Given the description of an element on the screen output the (x, y) to click on. 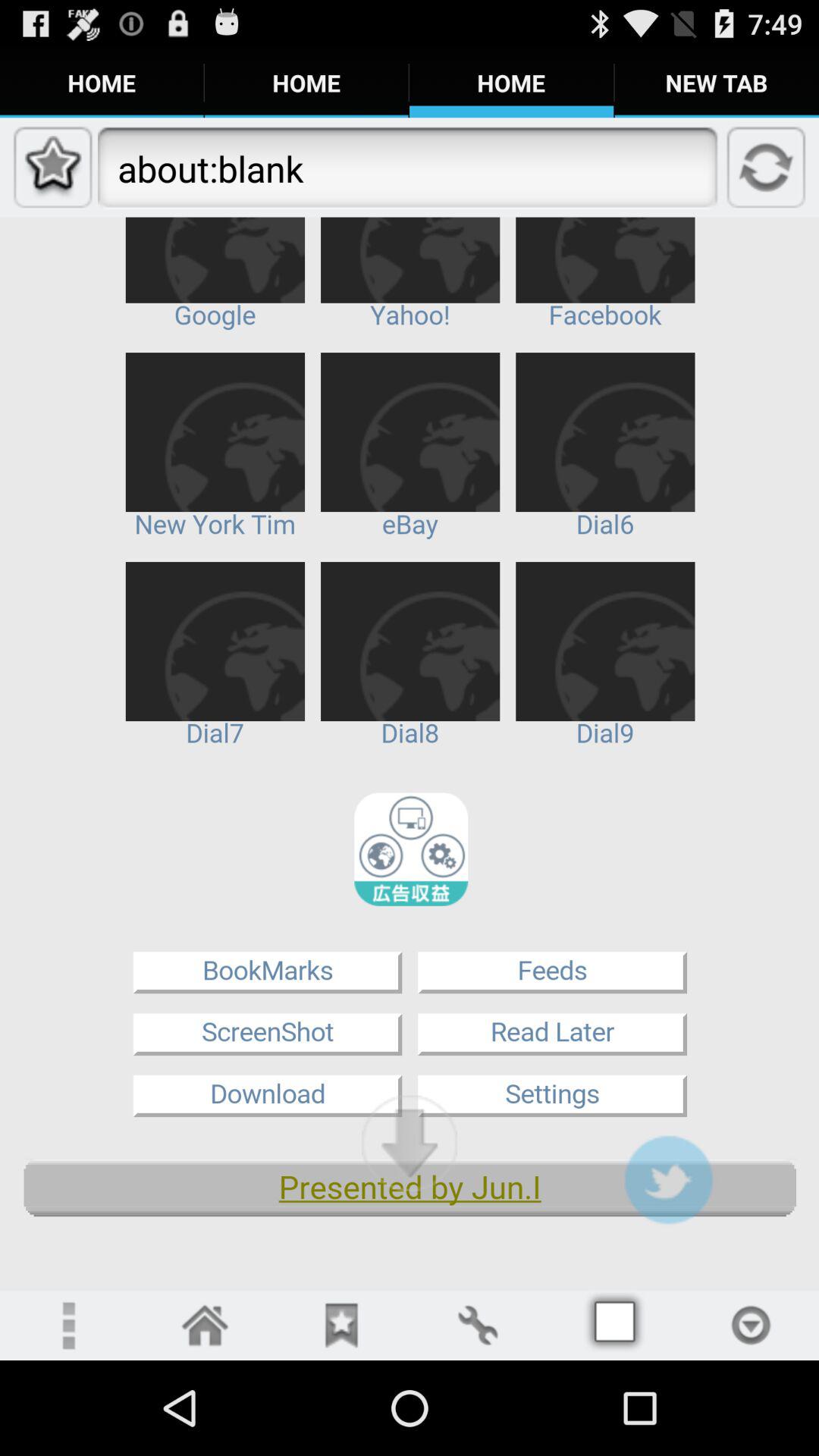
twitter logo (668, 1179)
